Given the description of an element on the screen output the (x, y) to click on. 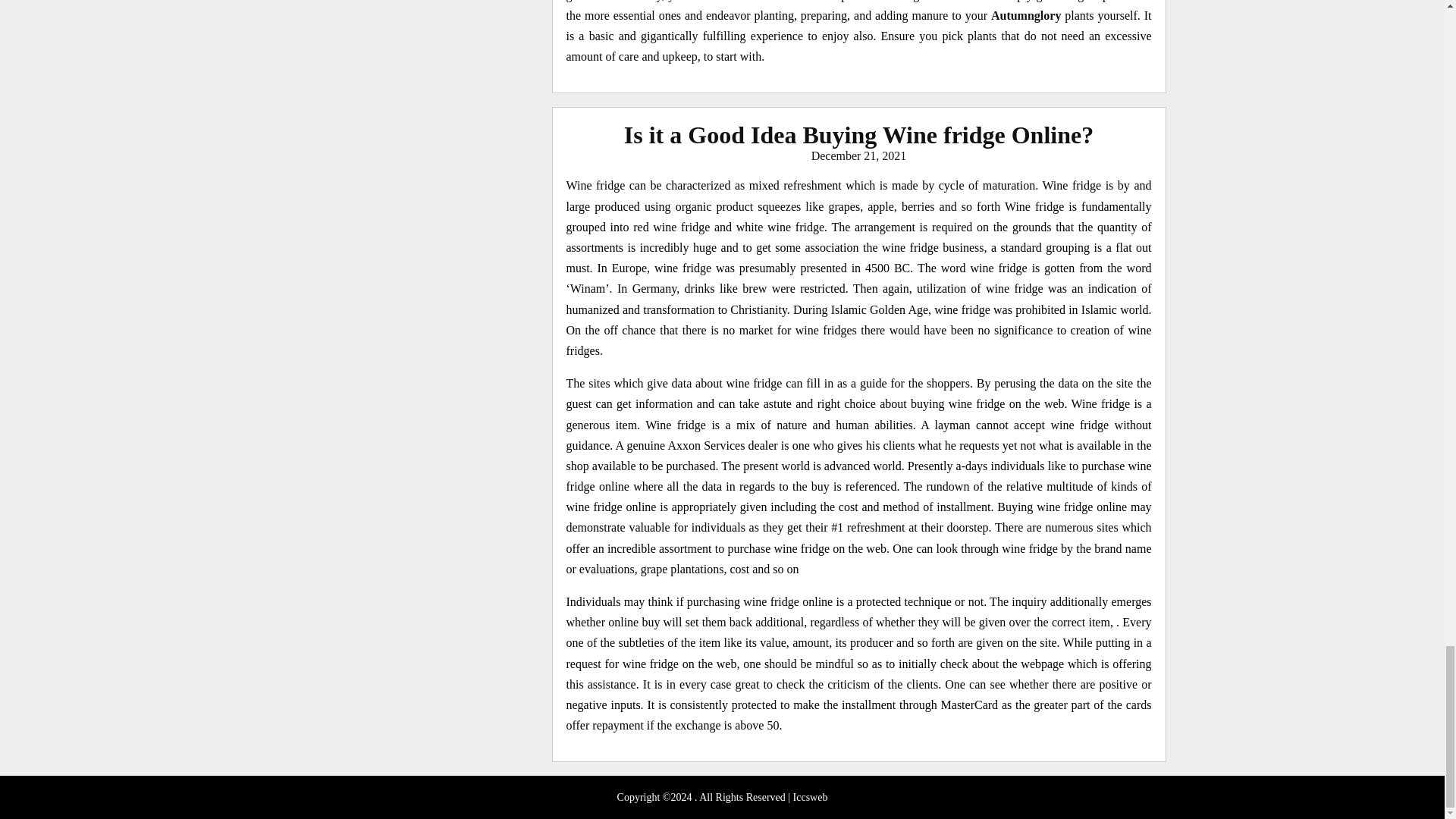
Is it a Good Idea Buying Wine fridge Online? (858, 134)
December 21, 2021 (858, 155)
Autumnglory (1026, 15)
